Given the description of an element on the screen output the (x, y) to click on. 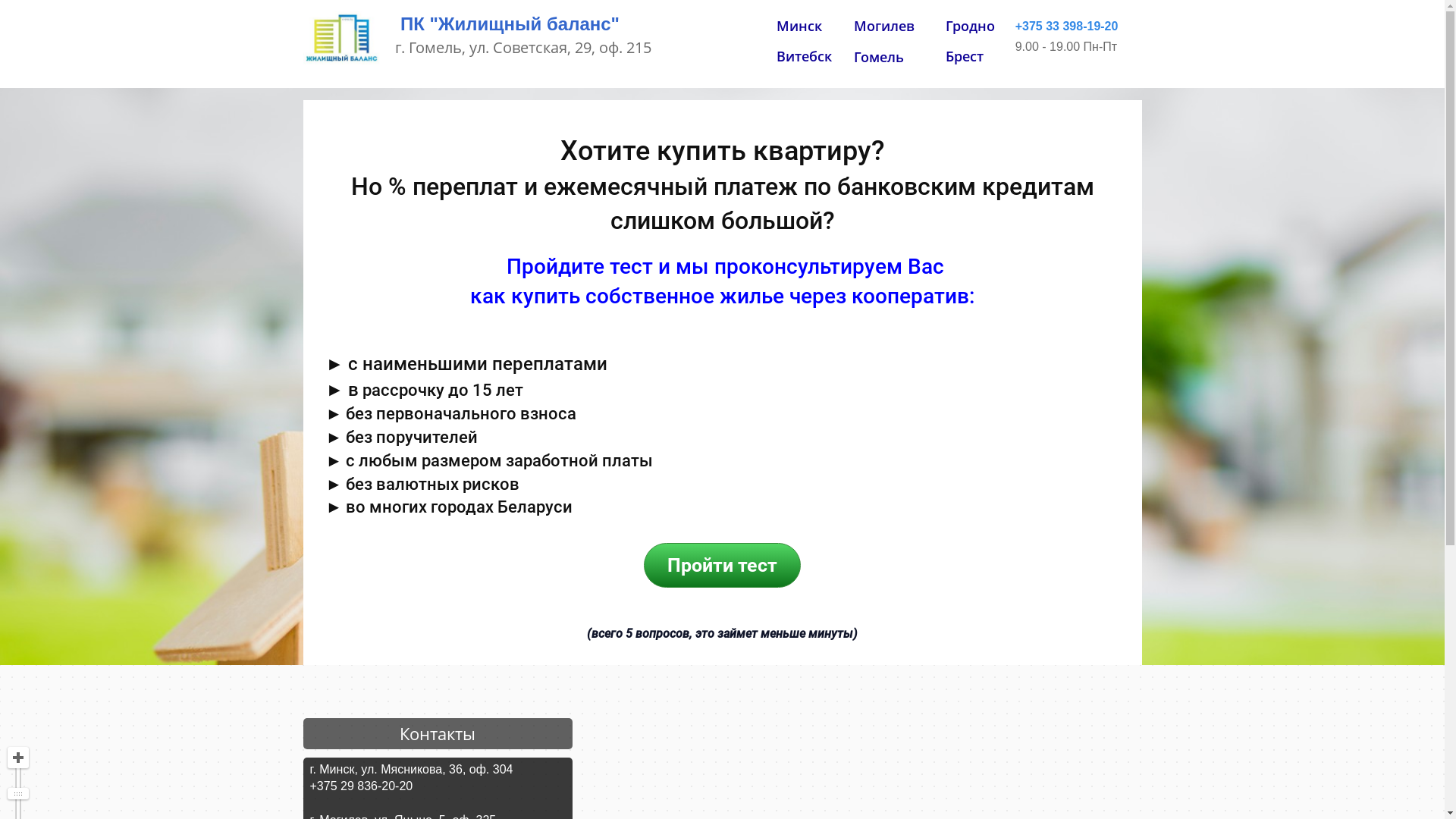
+375 33 398-19-20 Element type: text (1066, 26)
